Given the description of an element on the screen output the (x, y) to click on. 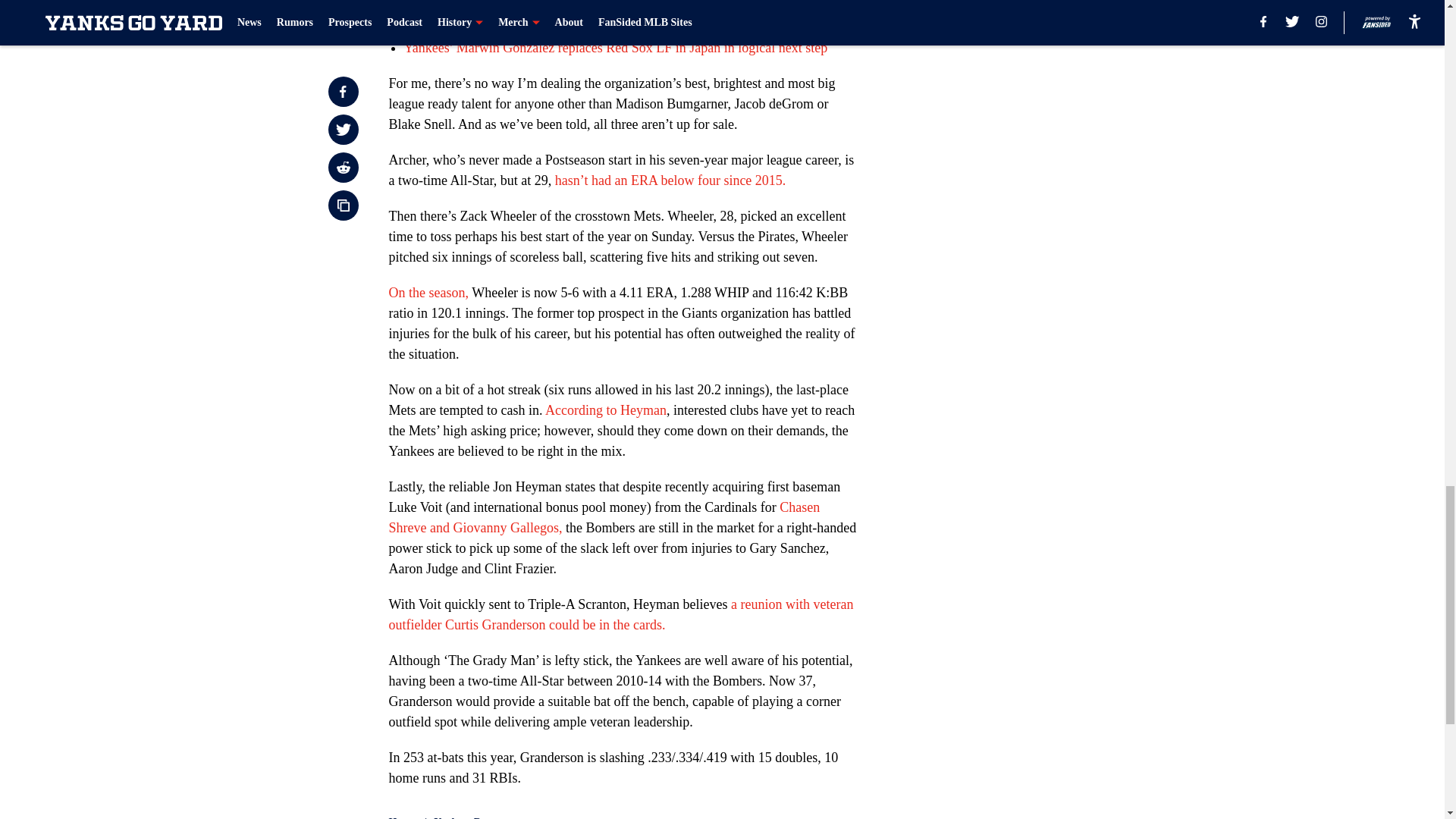
On the season, (427, 292)
Chasen Shreve and Giovanny Gallegos, (603, 517)
Yankees Rumors (472, 816)
Home (401, 816)
No, Yankees should not acquire Trevor Bauer for 2023 (552, 27)
According to Heyman (605, 409)
